Given the description of an element on the screen output the (x, y) to click on. 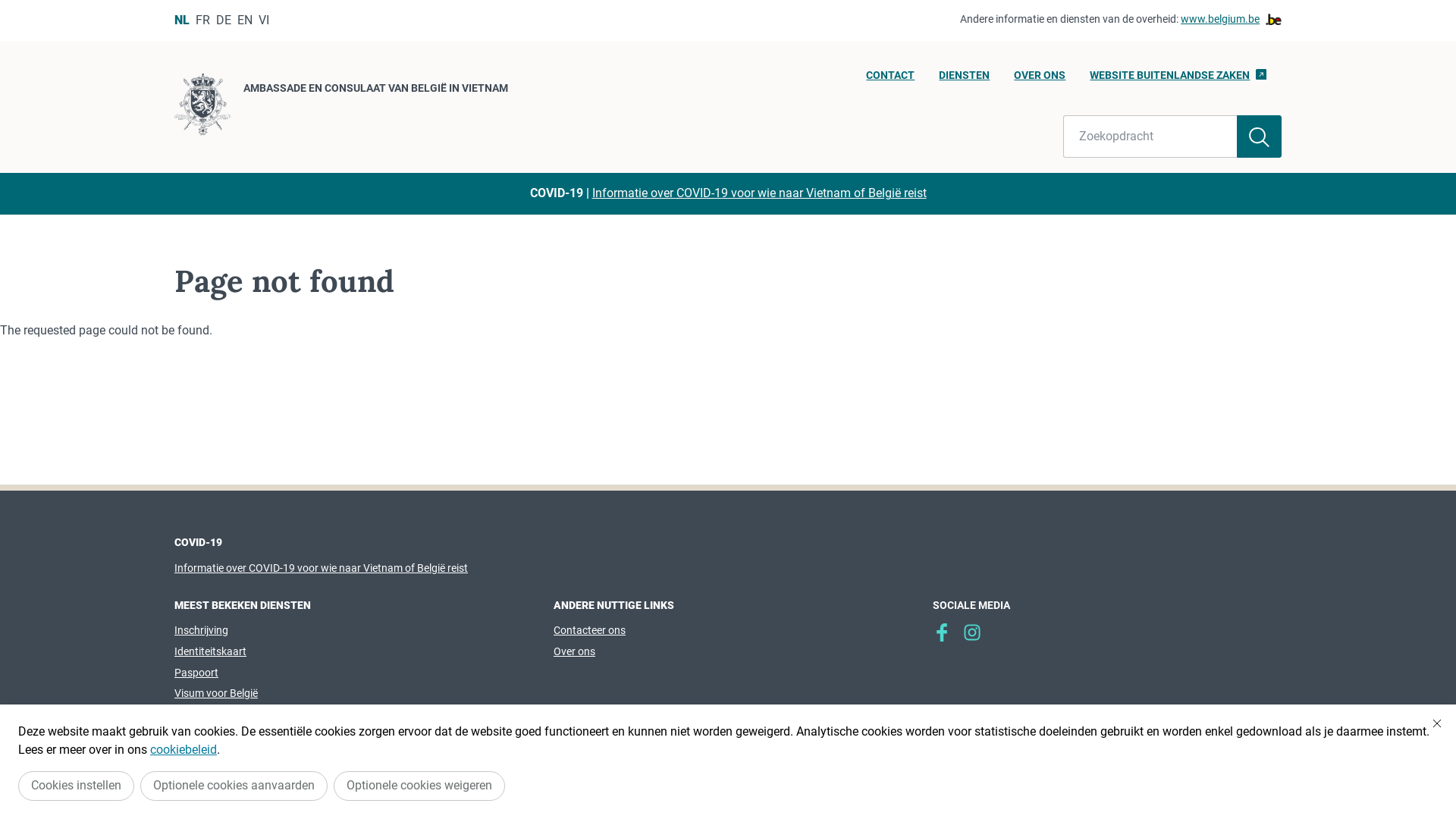
OVER ONS Element type: text (1039, 79)
Zoekopdracht Element type: hover (1149, 136)
Cookies instellen Element type: text (76, 785)
Optionele cookies weigeren Element type: text (419, 785)
Cookiebeleid Element type: text (774, 772)
Skip to main content Element type: text (7, 4)
FR Element type: text (202, 19)
www.belgium.be Element type: text (1230, 19)
NL Element type: text (181, 19)
Toegankelijkheidsverklaring Element type: text (902, 772)
cookiebeleid Element type: text (183, 749)
Over ons Element type: text (574, 651)
Identiteitskaart Element type: text (210, 651)
VI Element type: text (263, 19)
Inschrijving Element type: text (201, 630)
DIENSTEN Element type: text (963, 79)
Embassy of Belgium in Vietnam Element type: text (941, 632)
Filteren Element type: text (1258, 136)
Sluiten Element type: hover (1436, 723)
WEBSITE BUITENLANDSE ZAKEN Element type: text (1177, 79)
Disclaimer Element type: text (696, 772)
EN Element type: text (244, 19)
Optionele cookies aanvaarden Element type: text (233, 785)
DE Element type: text (223, 19)
Paspoort Element type: text (196, 672)
CONTACT Element type: text (889, 79)
Bescherming van persoonsgegevens Element type: text (562, 772)
Contacteer ons Element type: text (589, 630)
Embassy of Belgium in Vietnam Element type: text (972, 632)
